Given the description of an element on the screen output the (x, y) to click on. 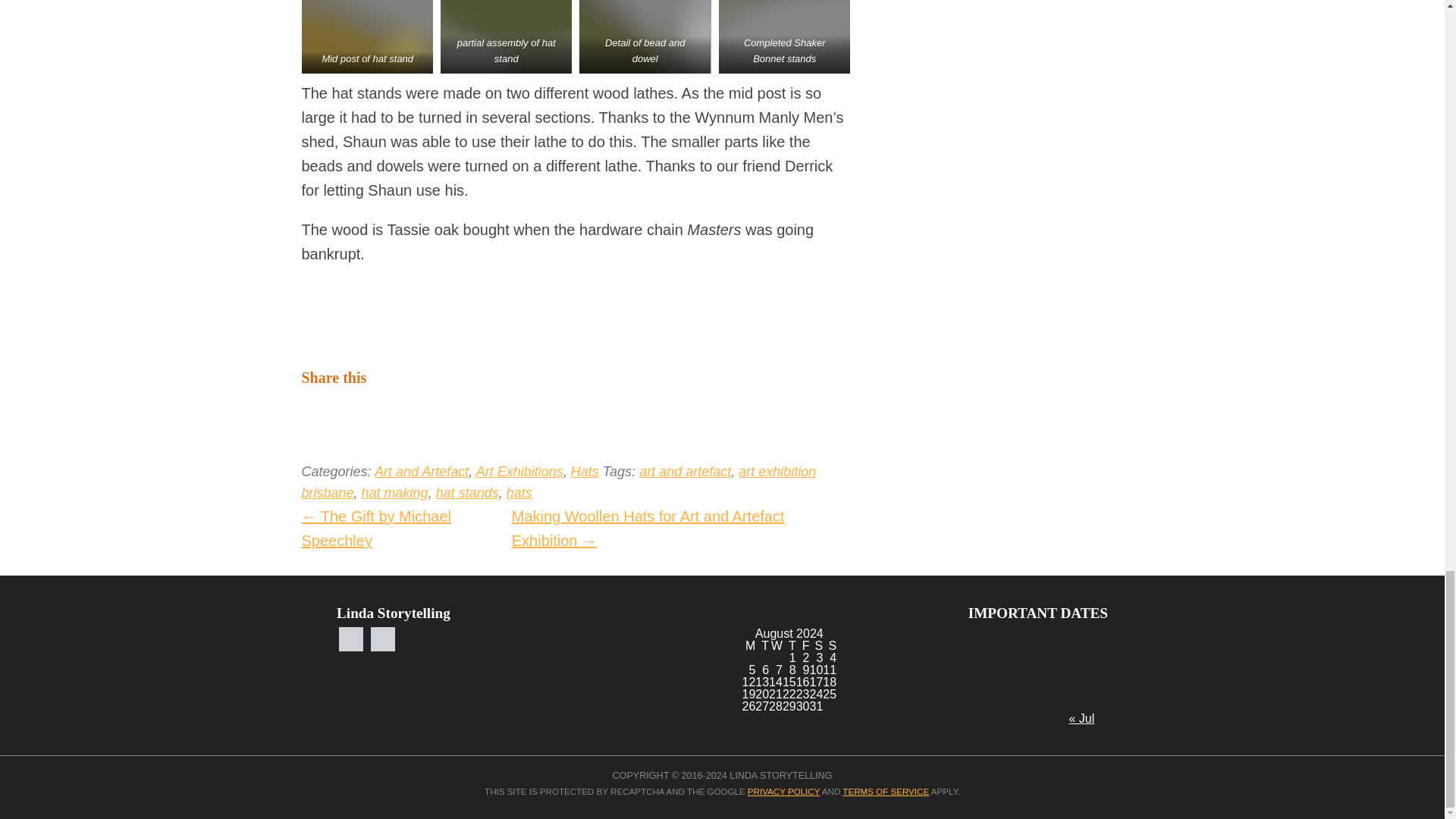
hat stands (467, 492)
Saturday (815, 645)
Art Exhibitions (519, 471)
art exhibition brisbane (558, 482)
Thursday (789, 645)
Sunday (828, 645)
PRIVACY POLICY (783, 791)
Wednesday (775, 645)
TERMS OF SERVICE (885, 791)
Monday (748, 645)
